Given the description of an element on the screen output the (x, y) to click on. 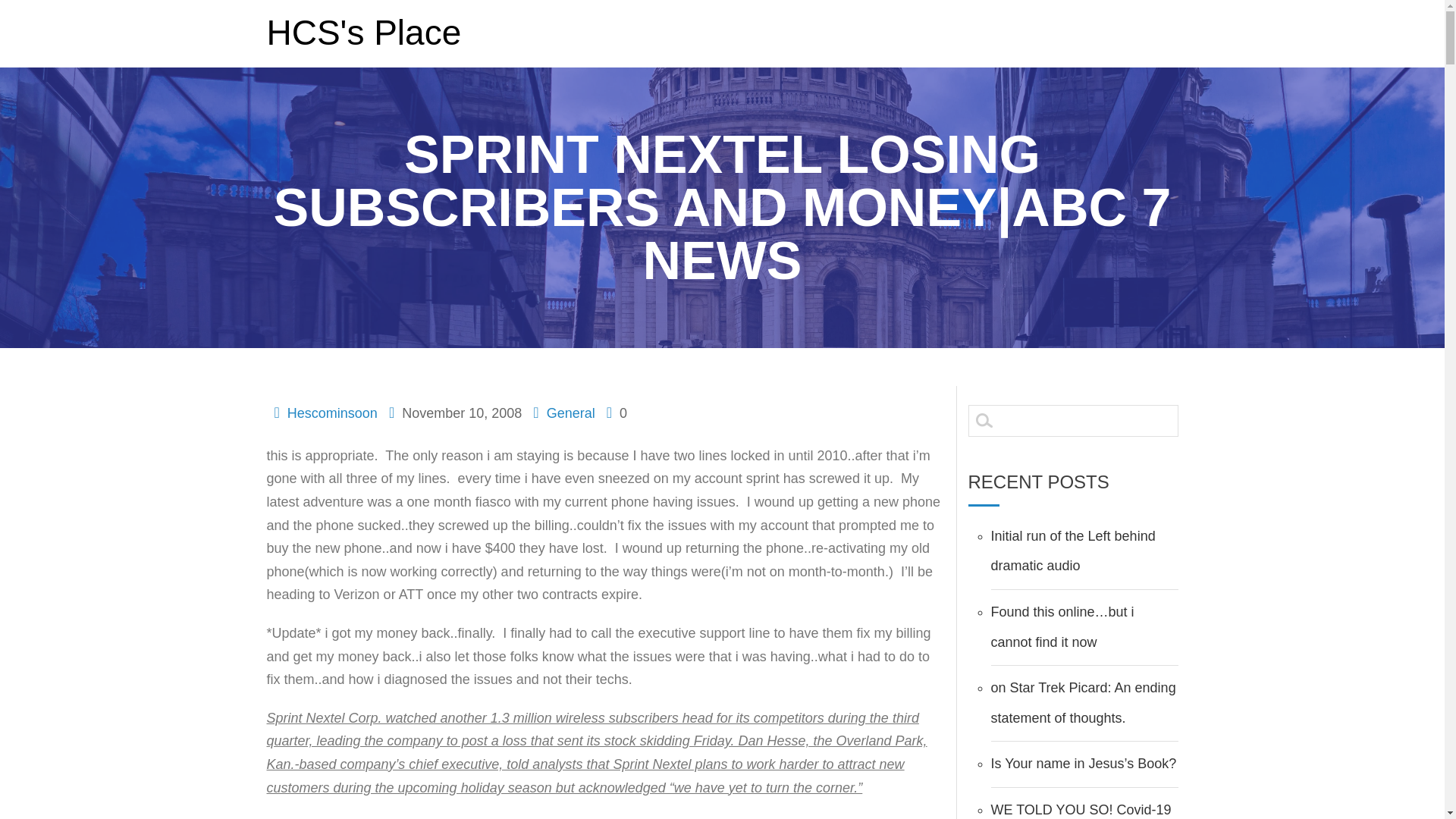
HCS's Place (363, 32)
Initial run of the Left behind dramatic audio (1072, 551)
General (571, 412)
Search (21, 7)
on Star Trek Picard: An ending statement of thoughts. (1082, 702)
Posts by Hescominsoon (331, 412)
WE TOLD YOU SO! Covid-19 (1080, 809)
Hescominsoon (331, 412)
